Given the description of an element on the screen output the (x, y) to click on. 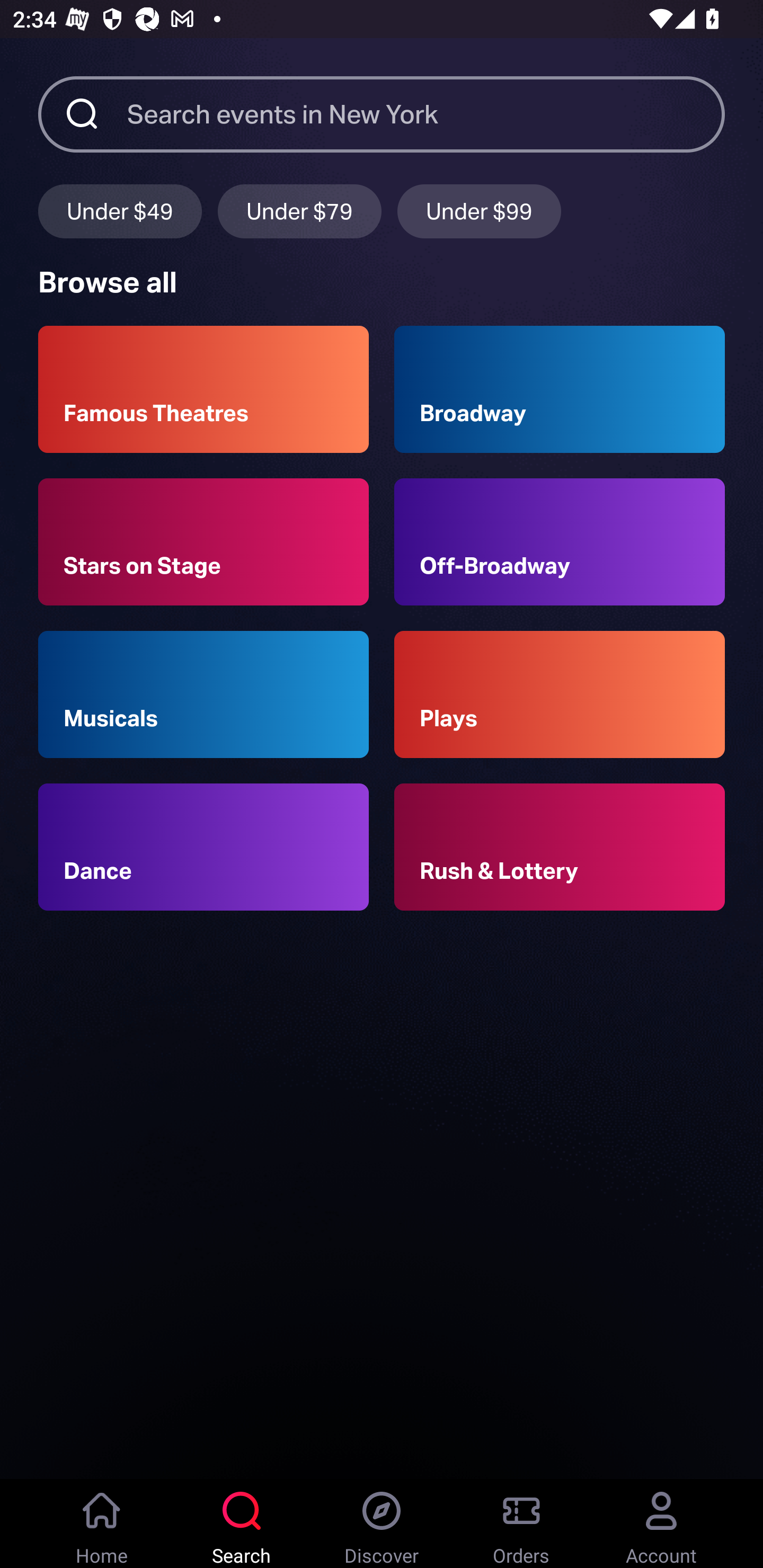
Search events in New York (425, 113)
Under $49 (120, 211)
Under $79 (299, 211)
Under $99 (478, 211)
Famous Theatres (203, 389)
Broadway (559, 389)
Stars on Stage (203, 541)
Off-Broadway (559, 541)
Musicals (203, 693)
Plays (559, 693)
Dance (203, 847)
Rush & Lottery (559, 847)
Home (101, 1523)
Discover (381, 1523)
Orders (521, 1523)
Account (660, 1523)
